Given the description of an element on the screen output the (x, y) to click on. 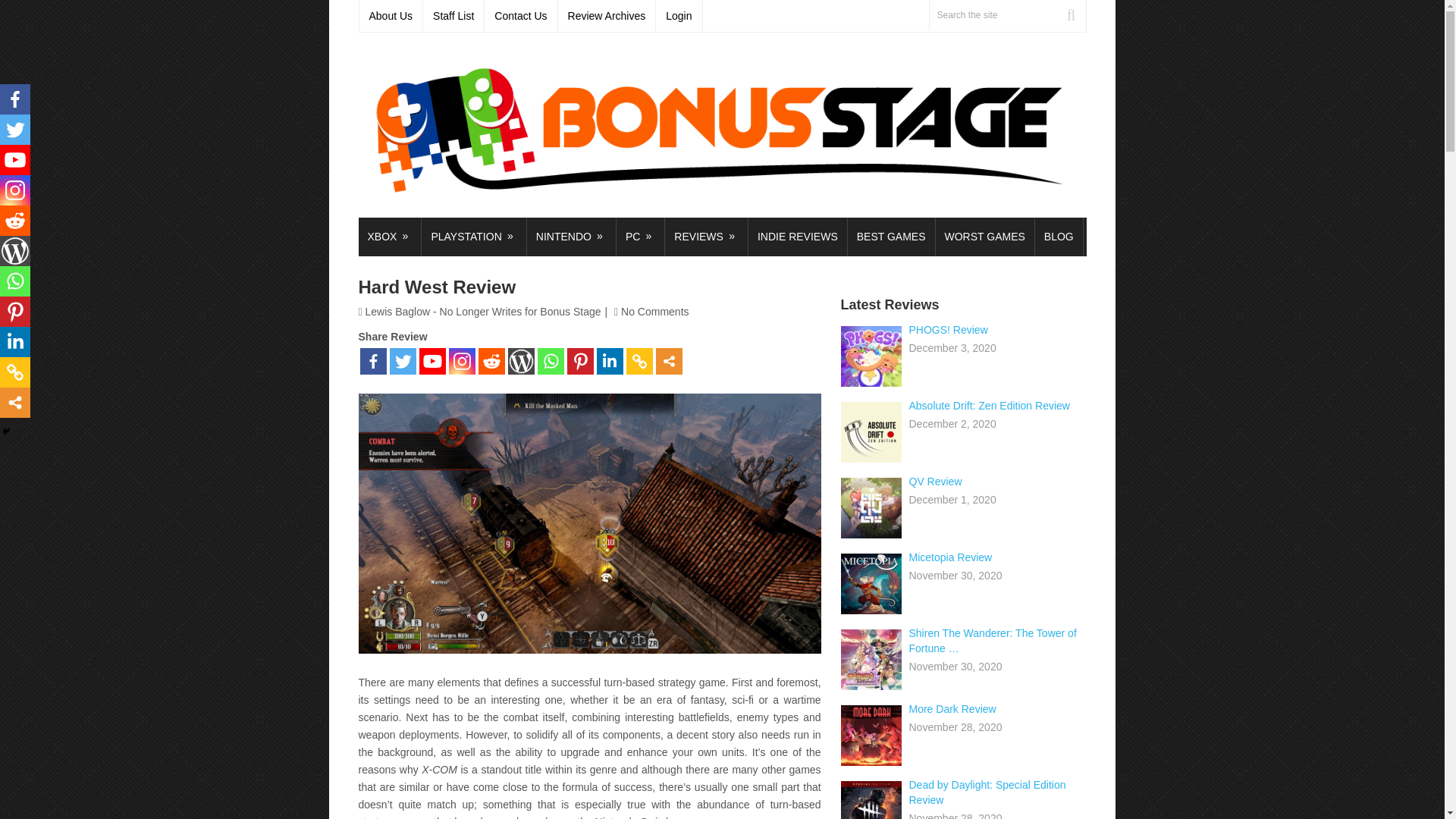
XBOX (389, 236)
REVIEWS (706, 236)
Contact Us (520, 15)
About Us (391, 15)
PC (639, 236)
Review Archives (606, 15)
Staff List (453, 15)
NINTENDO (571, 236)
PLAYSTATION (473, 236)
Login (678, 15)
